Given the description of an element on the screen output the (x, y) to click on. 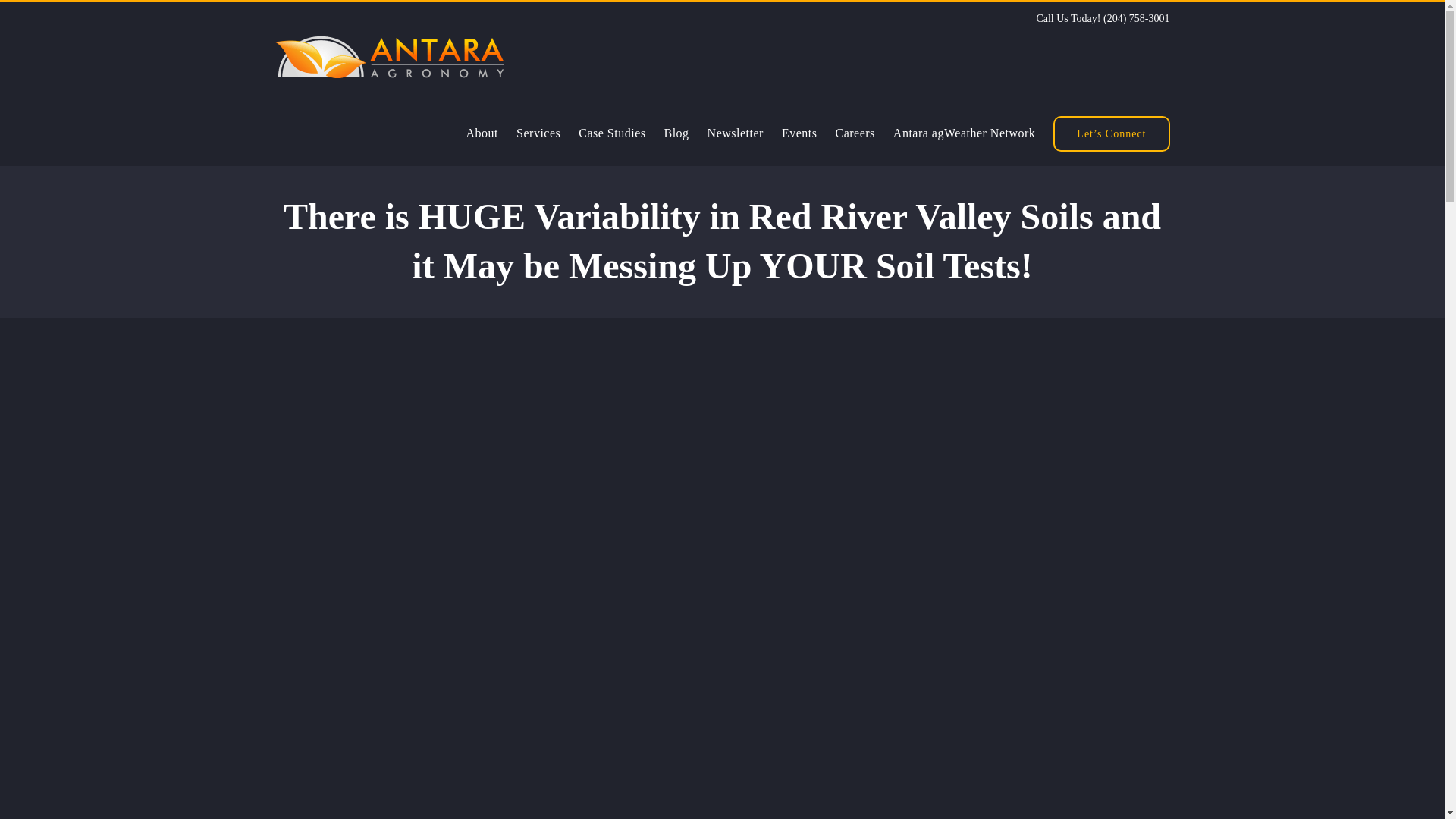
Case Studies (611, 133)
Antara agWeather Network (964, 133)
